Given the description of an element on the screen output the (x, y) to click on. 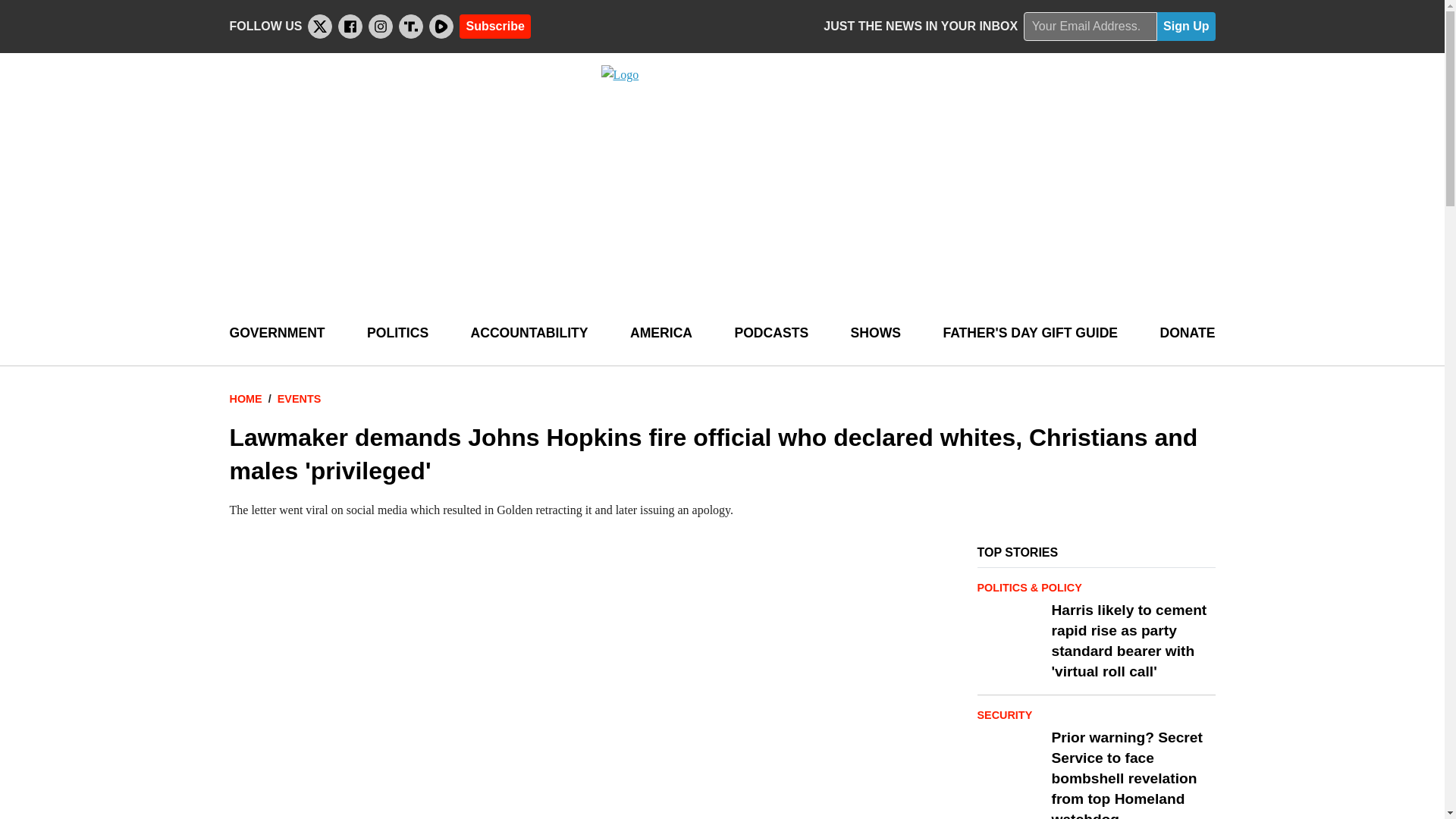
GOVERNMENT (276, 333)
Subscribe (494, 26)
Sign Up (1185, 26)
ACCOUNTABILITY (529, 333)
DONATE (1186, 333)
PODCASTS (770, 333)
AMERICA (661, 333)
POLITICS (397, 333)
SHOWS (875, 333)
FATHER'S DAY GIFT GUIDE (1030, 333)
Sign Up (1185, 26)
